Given the description of an element on the screen output the (x, y) to click on. 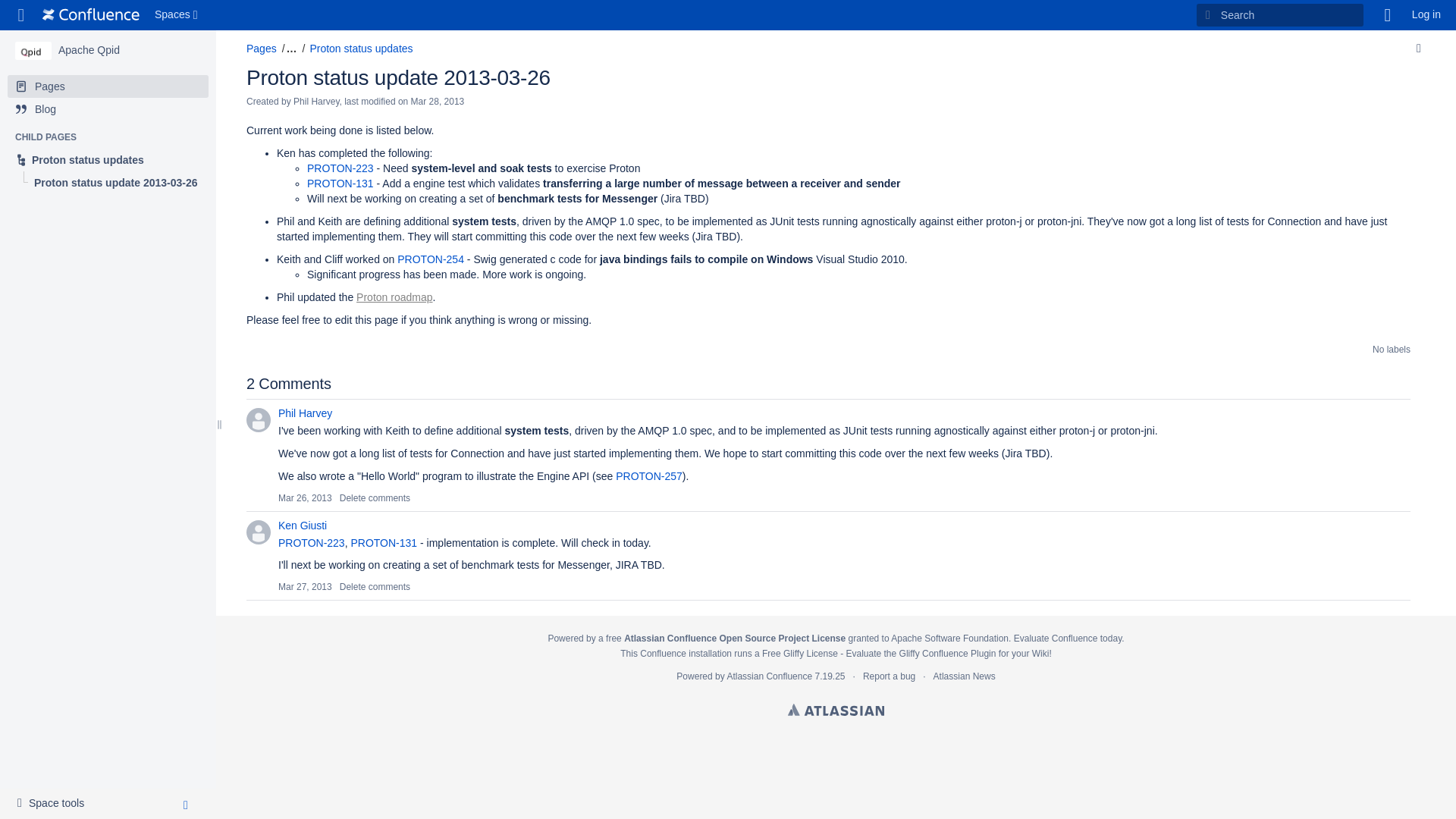
Spaces (177, 15)
Apache Qpid (88, 50)
Proton status updates (360, 48)
Blog (107, 108)
Pages (261, 48)
Help (1388, 15)
Pages (54, 803)
Help (107, 86)
Apache Qpid (1388, 15)
Apache Software Foundation (88, 50)
Apache Qpid (90, 15)
Proton status updates (32, 50)
Log in (107, 159)
Proton status updates (1426, 15)
